Given the description of an element on the screen output the (x, y) to click on. 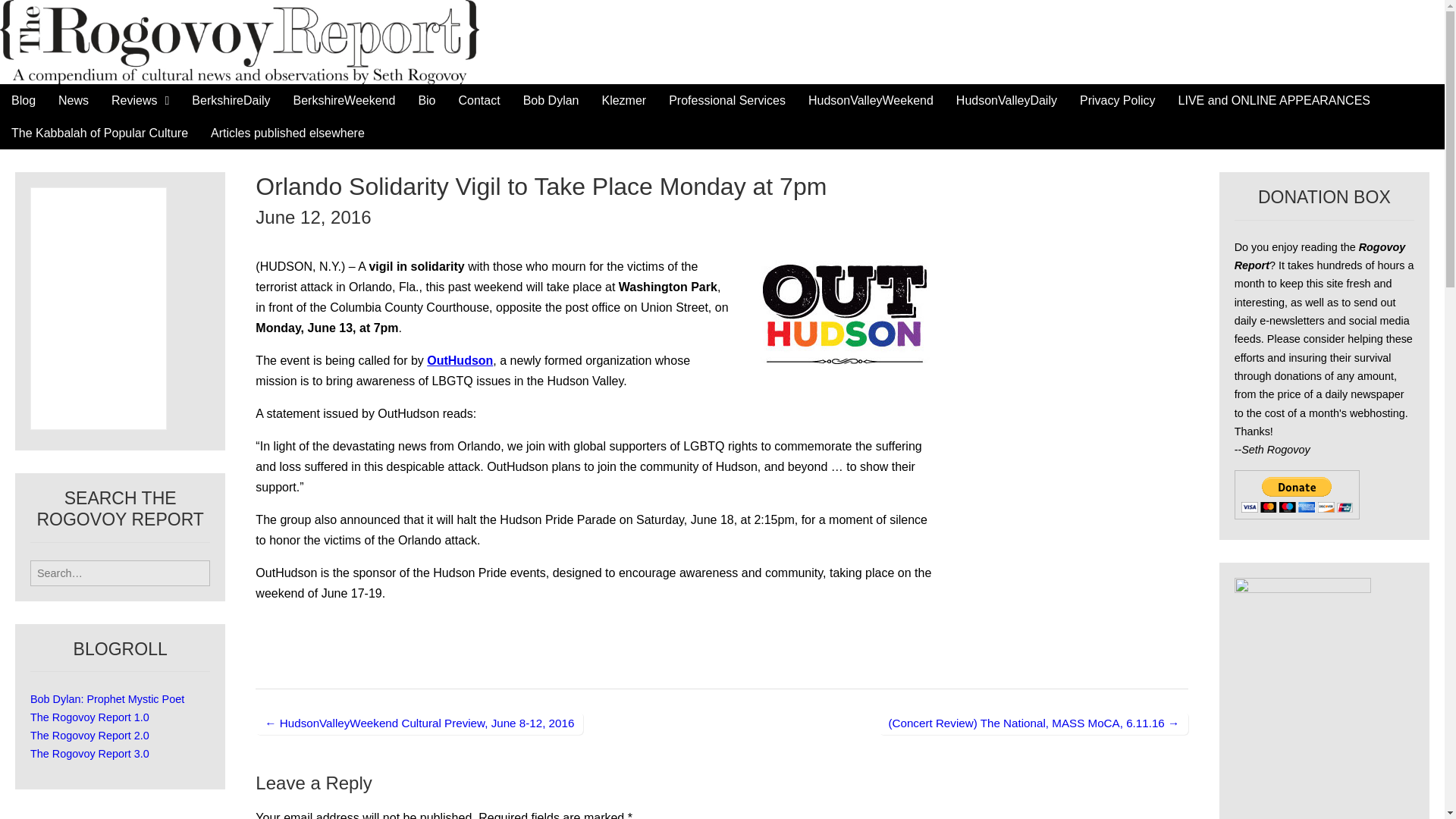
The Rogovoy Report 1.0 (89, 717)
Bob Dylan (551, 100)
HudsonValleyWeekend (870, 100)
Blog (23, 100)
Bio (426, 100)
Blog (23, 100)
Articles published elsewhere (287, 133)
Reviews (140, 100)
Contact (479, 100)
News (73, 100)
BerkshireDaily (230, 100)
Klezmer (623, 100)
Professional Services (727, 100)
Reviews (140, 100)
OutHudson (459, 359)
